Given the description of an element on the screen output the (x, y) to click on. 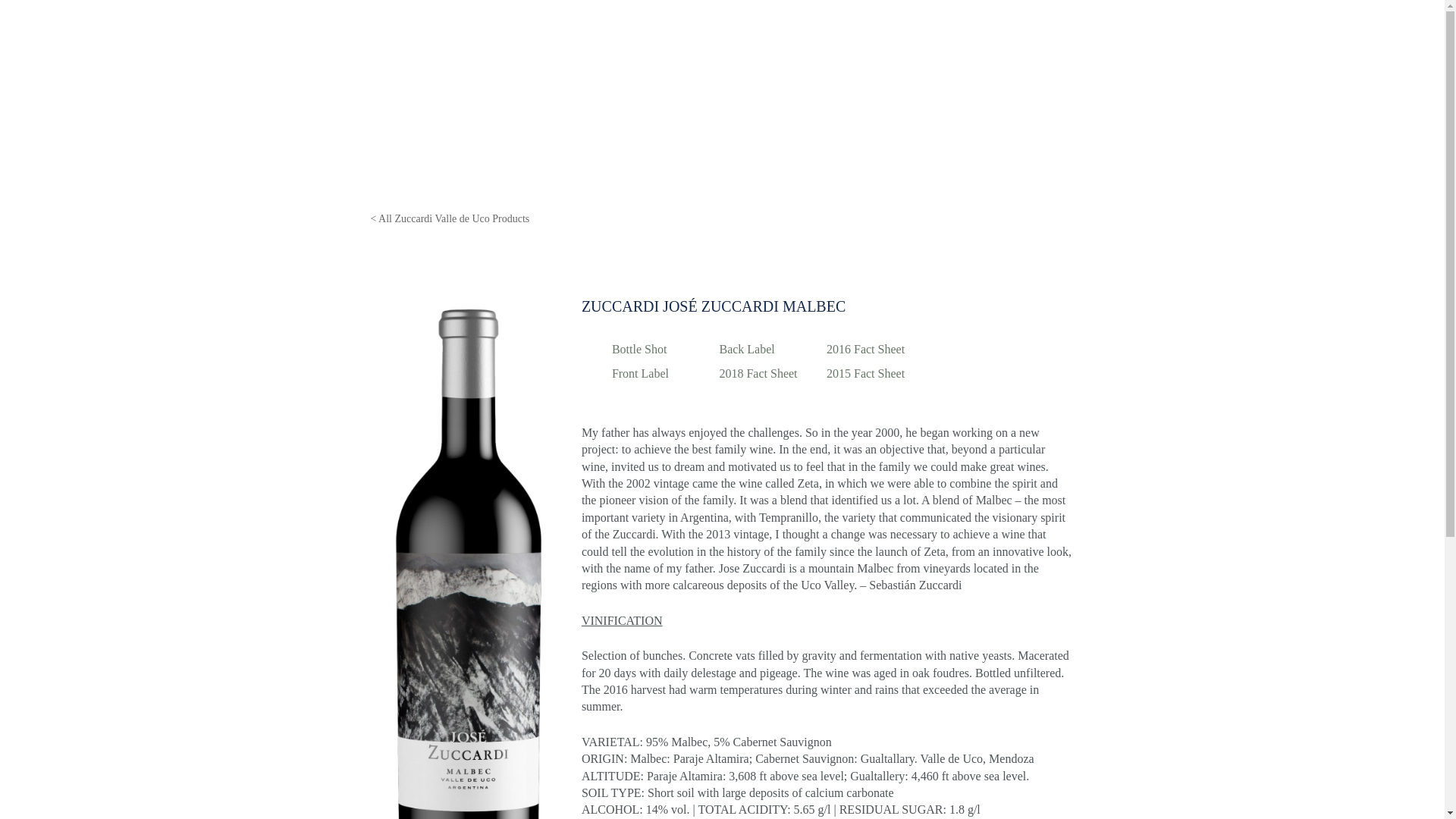
FIND OUR WINES (1097, 105)
Back Label (768, 349)
ABOUT US (879, 105)
2016 Fact Sheet (876, 349)
Bottle Shot (661, 349)
Front Label (661, 373)
2015 Fact Sheet (876, 373)
PORTFOLIO (793, 105)
2018 Fact Sheet (768, 373)
